Given the description of an element on the screen output the (x, y) to click on. 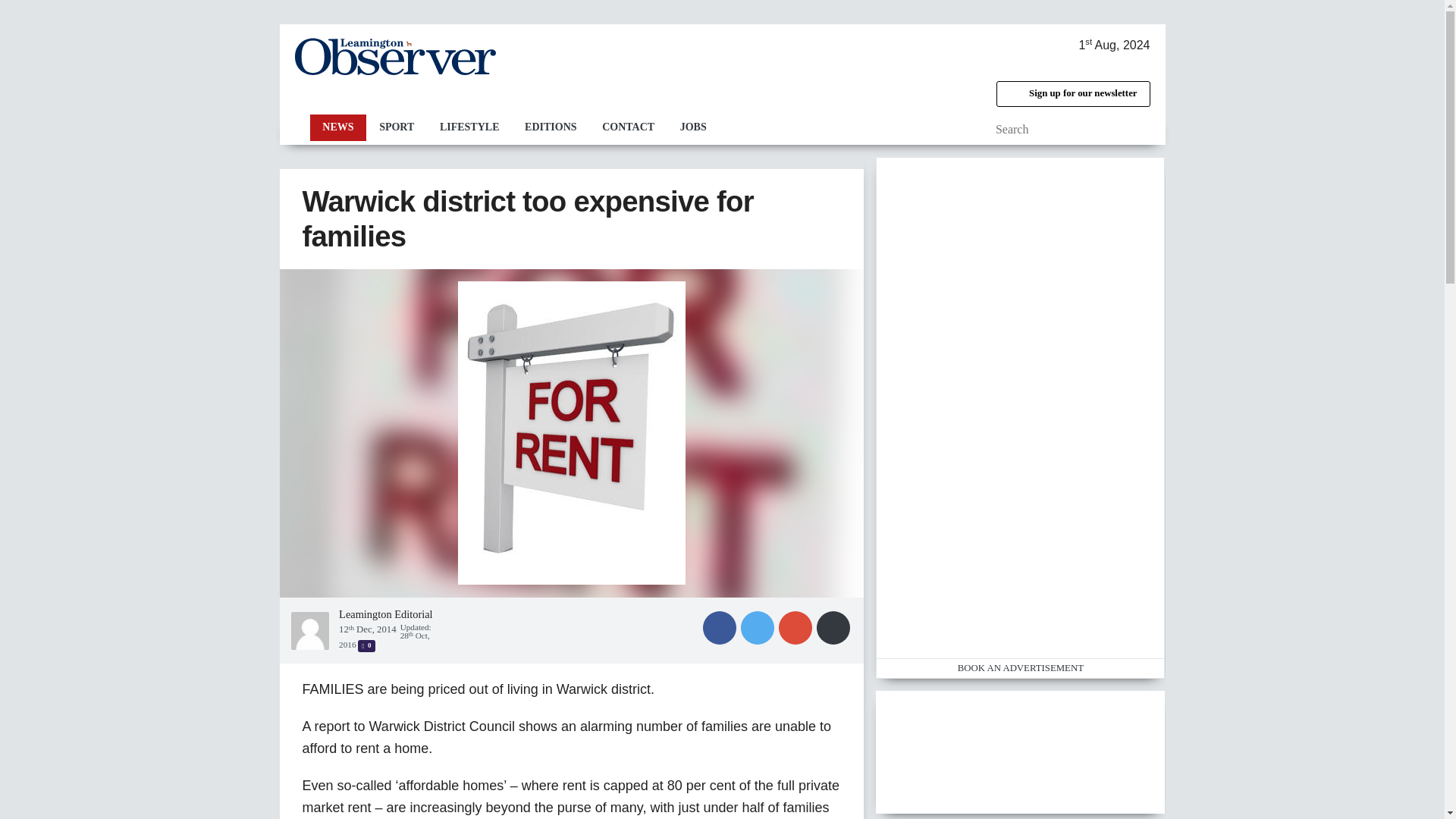
NEWS (337, 127)
  Sign up for our newsletter (1072, 94)
EDITIONS (550, 127)
The Leamington Observer (394, 55)
SPORT (396, 127)
JOBS (692, 127)
LIFESTYLE (469, 127)
CONTACT (627, 127)
